Given the description of an element on the screen output the (x, y) to click on. 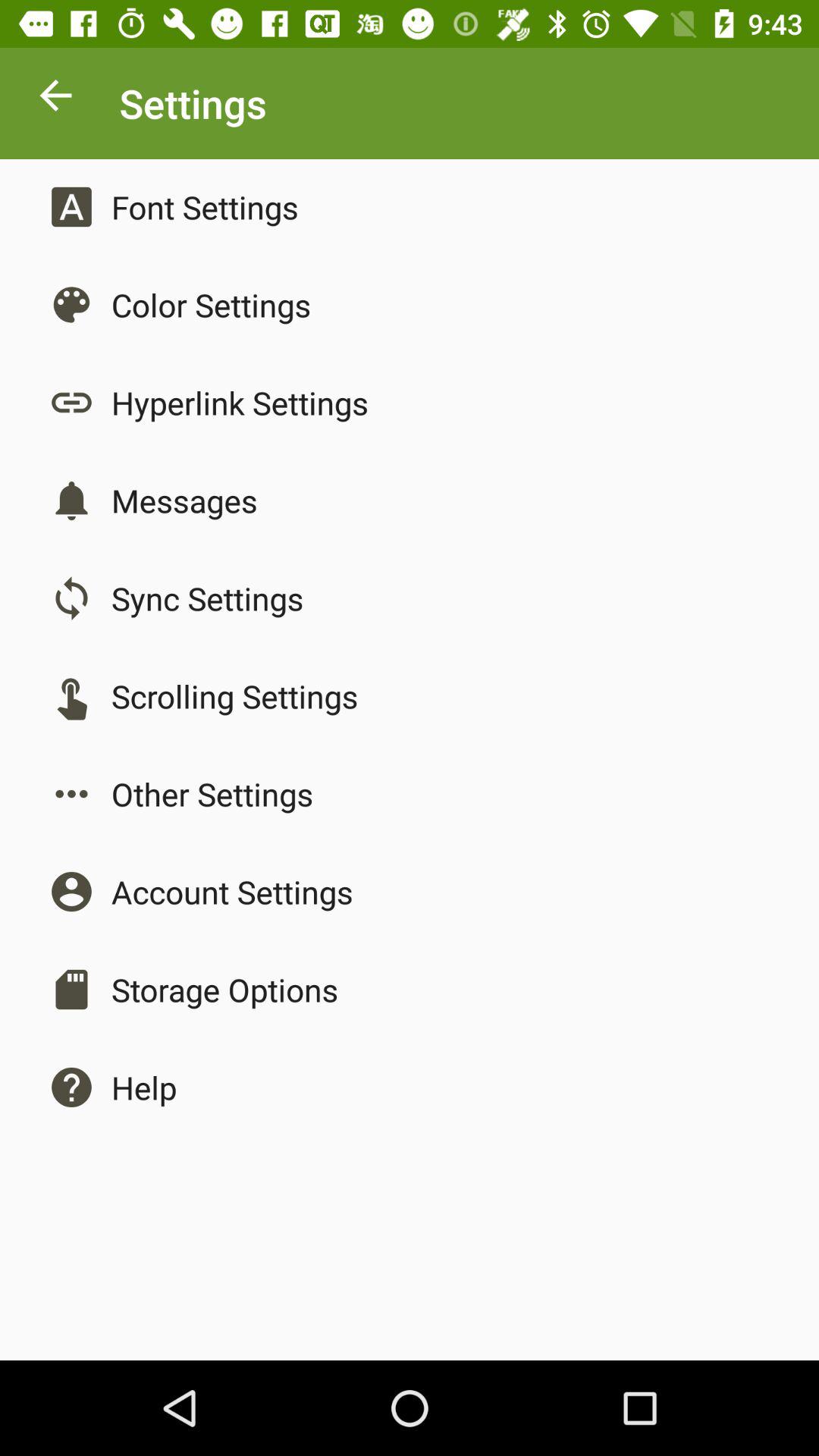
click sync settings item (207, 597)
